Given the description of an element on the screen output the (x, y) to click on. 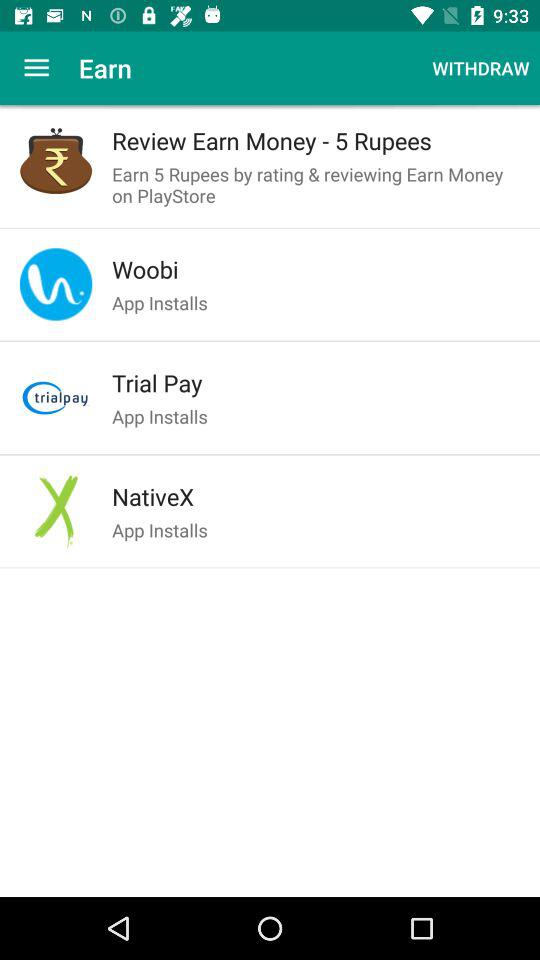
turn on item above the app installs item (316, 496)
